Given the description of an element on the screen output the (x, y) to click on. 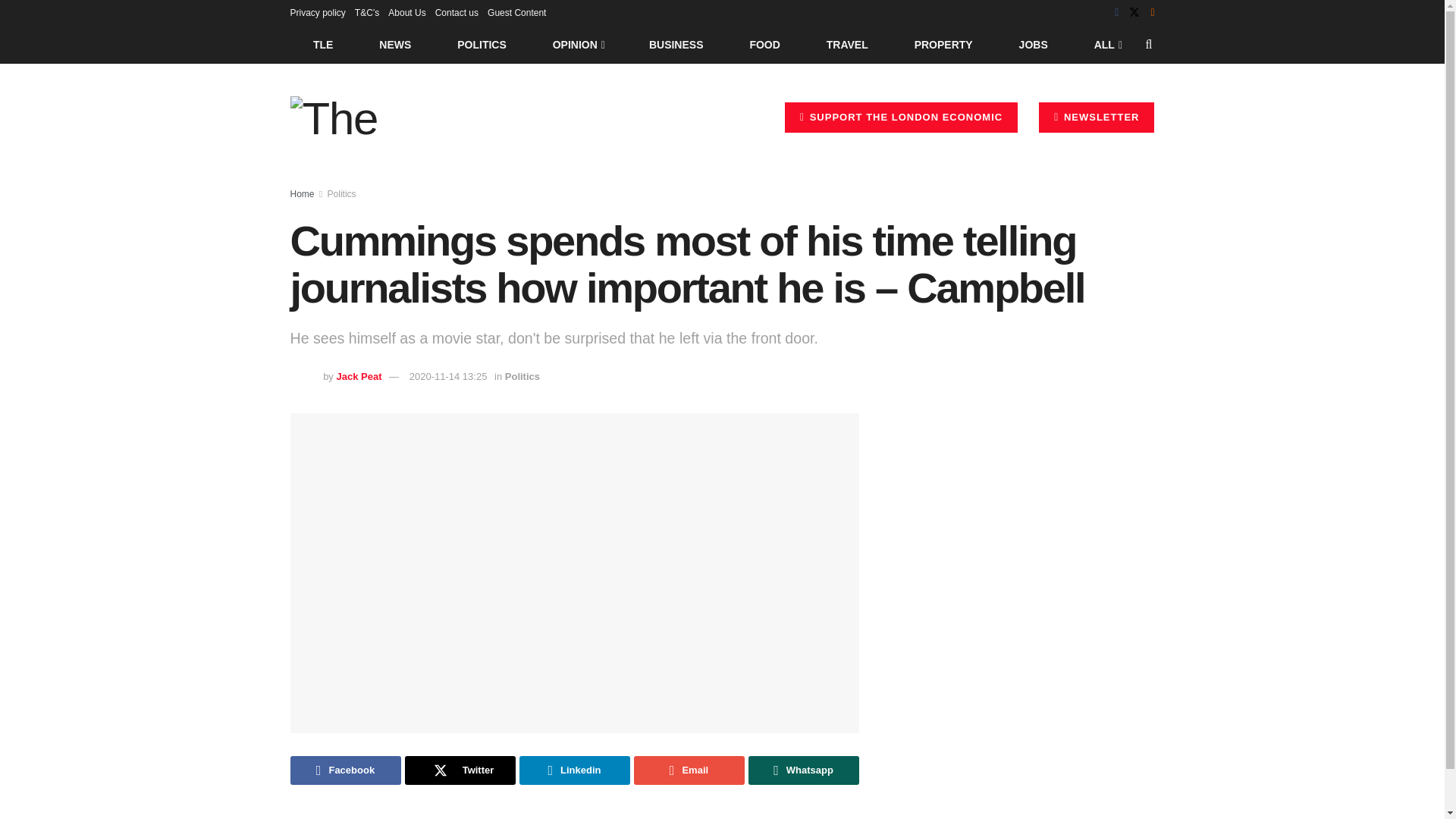
Home (301, 194)
Guest Content (516, 12)
JOBS (1032, 44)
OPINION (577, 44)
Contact us (457, 12)
Privacy policy (317, 12)
TRAVEL (847, 44)
POLITICS (481, 44)
NEWS (394, 44)
SUPPORT THE LONDON ECONOMIC (900, 117)
